Given the description of an element on the screen output the (x, y) to click on. 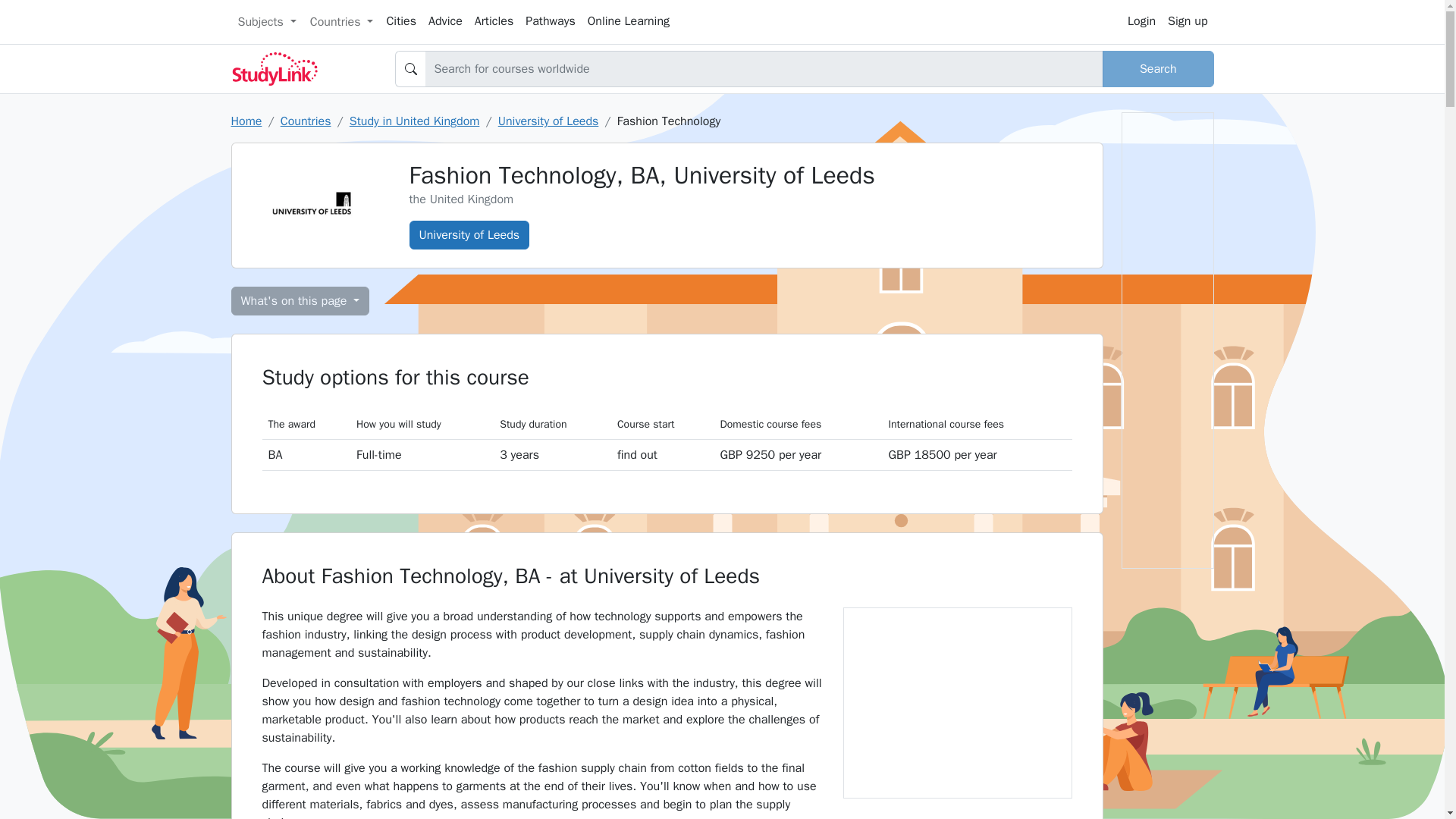
Subjects (266, 21)
3rd party ad content (956, 702)
Countries (341, 21)
Visit the provider website to learn more (662, 454)
